Given the description of an element on the screen output the (x, y) to click on. 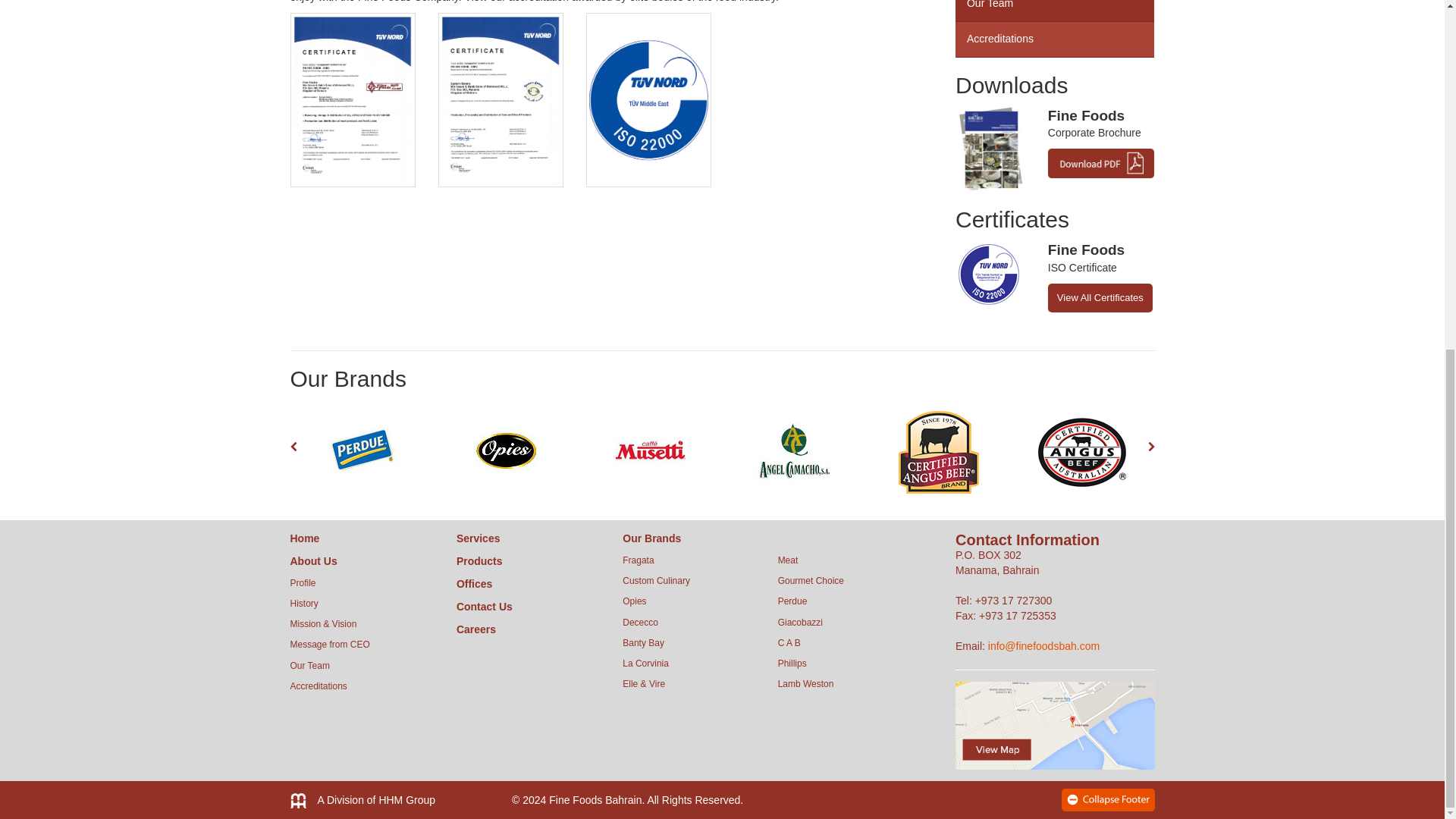
Accreditations (317, 685)
Profile (302, 583)
Our Team (1054, 11)
History (303, 603)
Home (303, 538)
Accreditations (1054, 39)
Message from CEO (329, 644)
Our Team (309, 665)
View All Certificates (1100, 297)
